Given the description of an element on the screen output the (x, y) to click on. 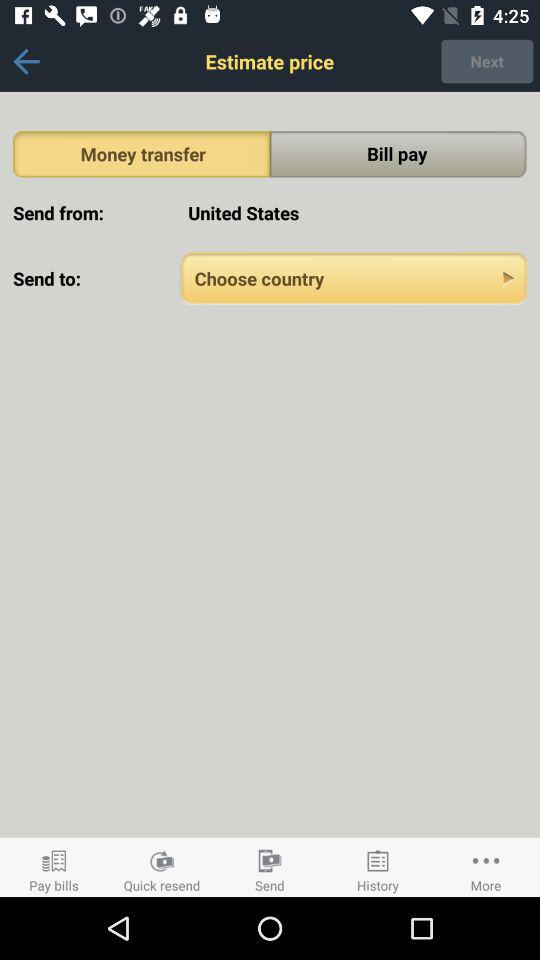
tap next item (487, 61)
